Given the description of an element on the screen output the (x, y) to click on. 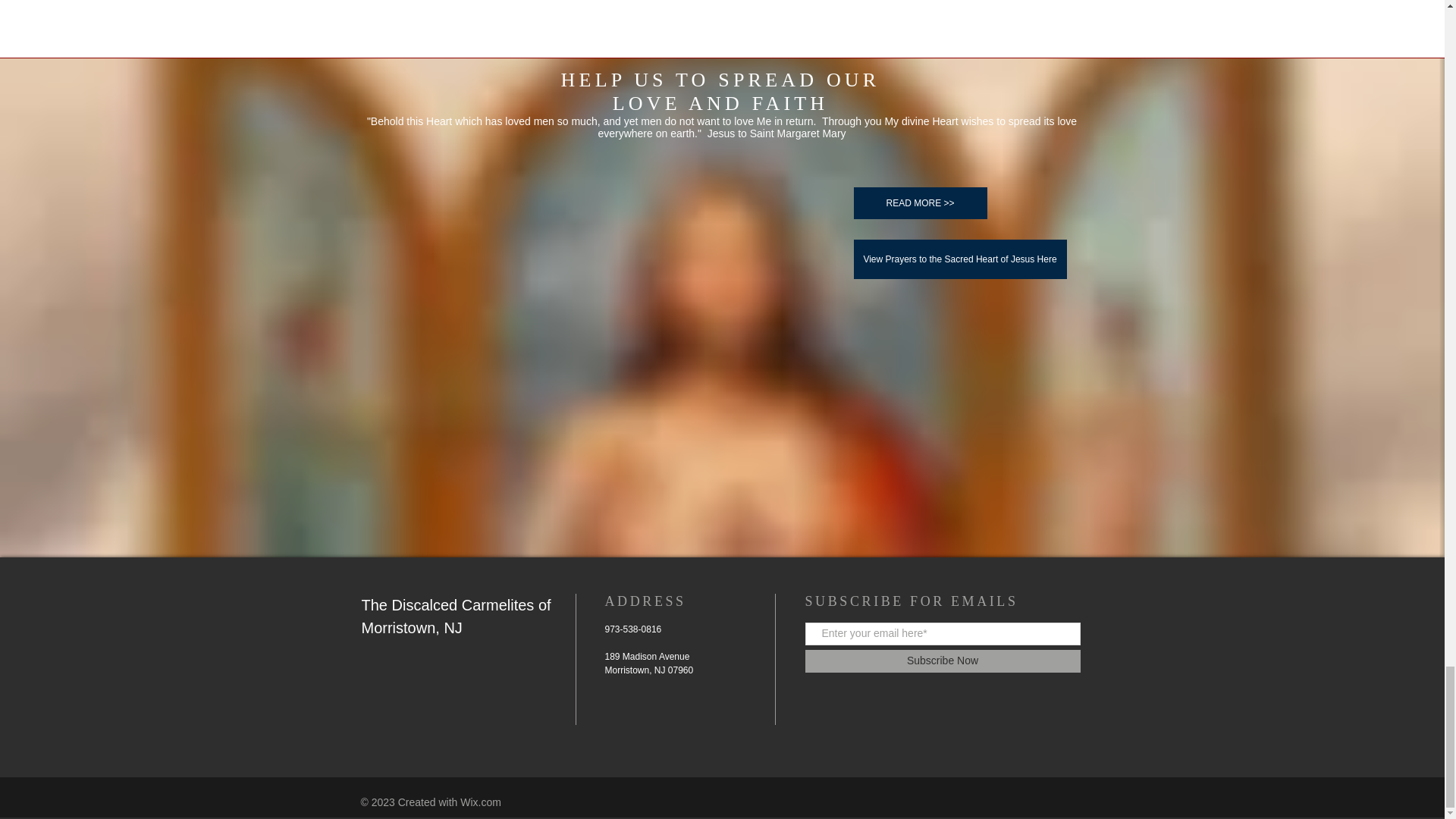
Wix.com (480, 802)
Subscribe Now (942, 661)
View Prayers to the Sacred Heart of Jesus Here (960, 259)
